Given the description of an element on the screen output the (x, y) to click on. 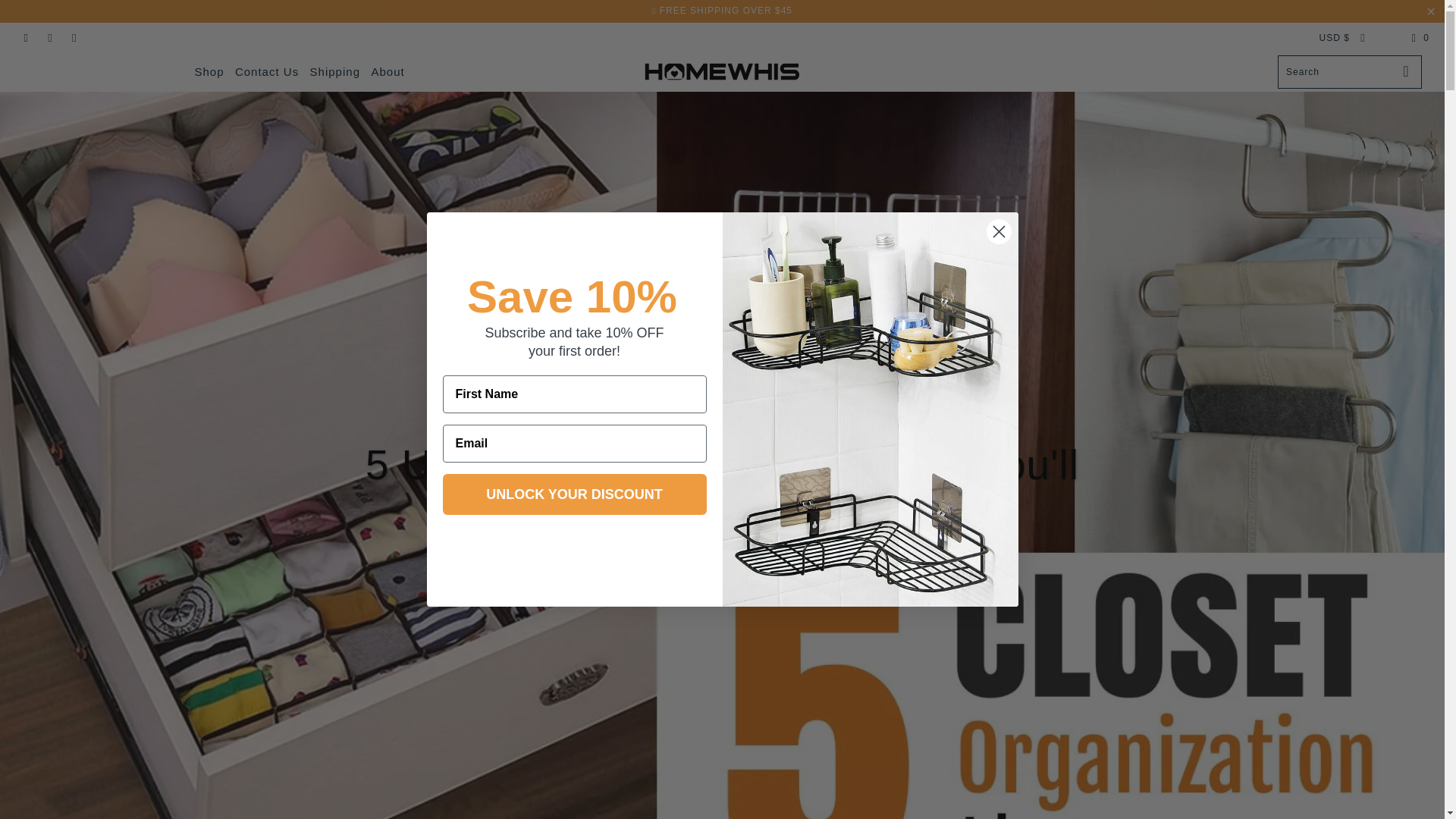
Homewhis on Instagram (49, 37)
Homewhis (722, 71)
Search (1376, 1)
Email Homewhis (73, 37)
Shop (208, 72)
Homewhis on Pinterest (25, 37)
